Given the description of an element on the screen output the (x, y) to click on. 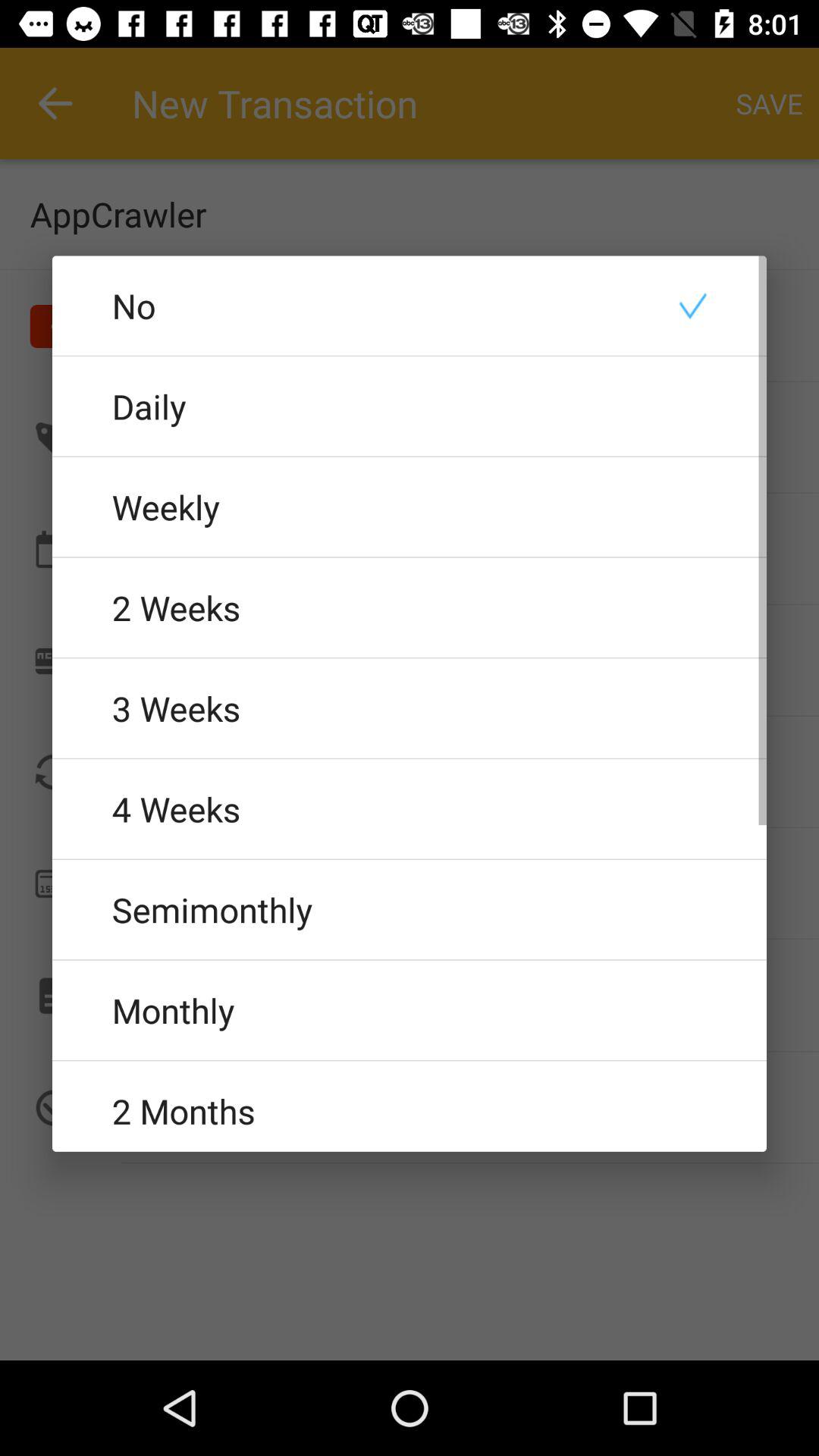
choose daily (409, 406)
